Given the description of an element on the screen output the (x, y) to click on. 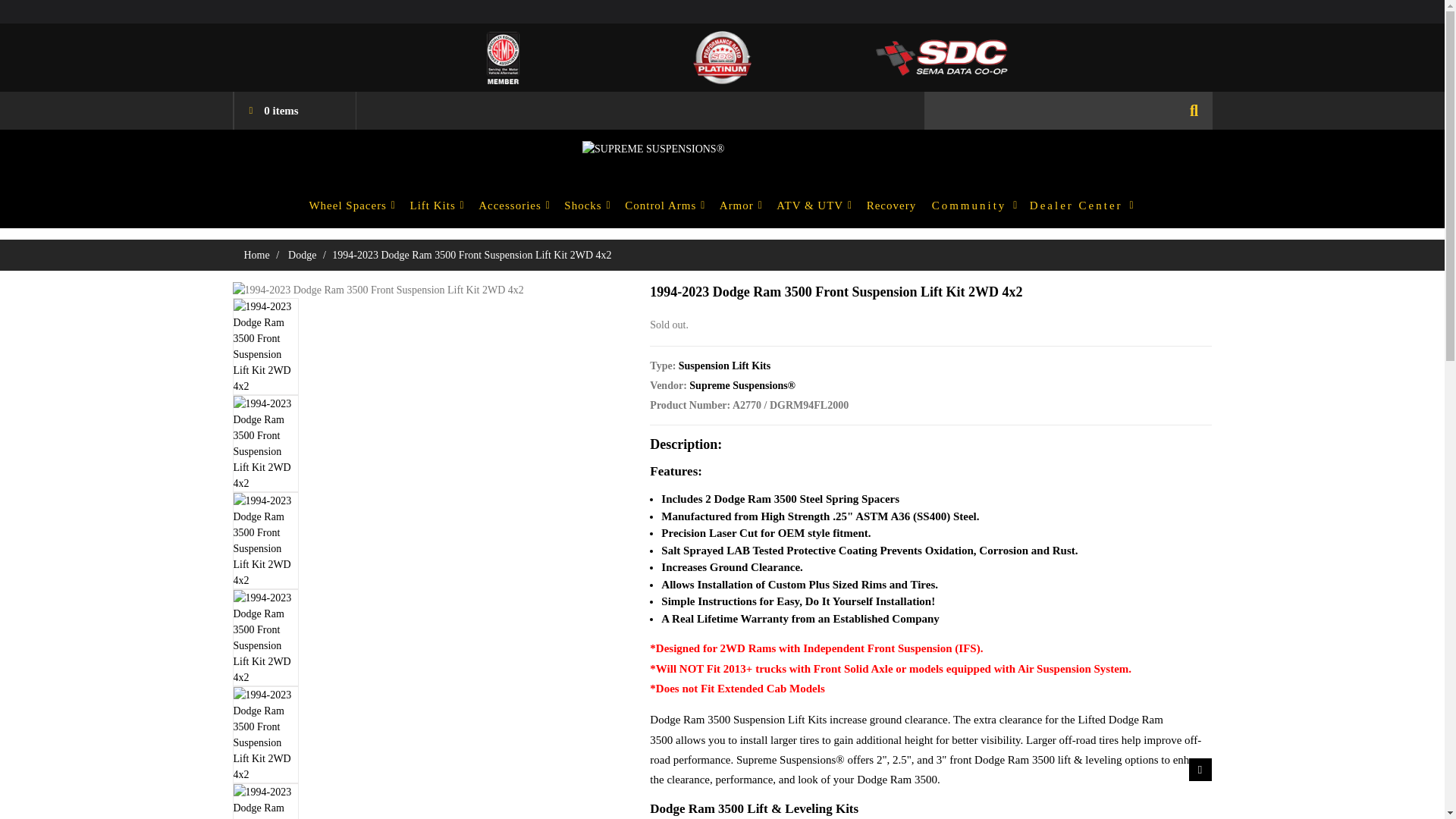
Suspension Lift Kits (724, 365)
Accessories (512, 205)
Lift Kits (435, 205)
Back to the frontpage (256, 255)
0 items (293, 110)
Wheel Spacers (350, 205)
